Given the description of an element on the screen output the (x, y) to click on. 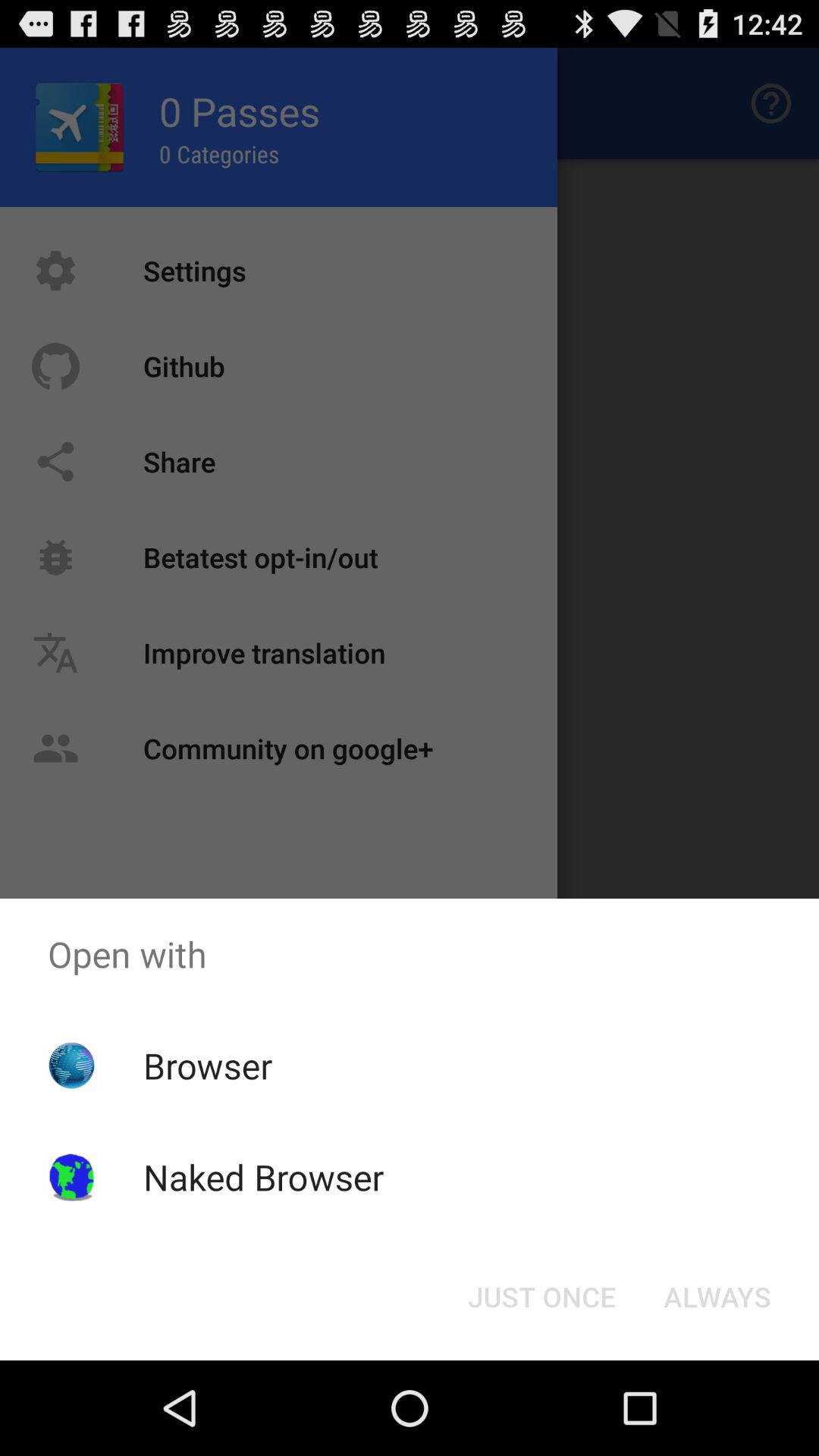
flip to always icon (717, 1296)
